Given the description of an element on the screen output the (x, y) to click on. 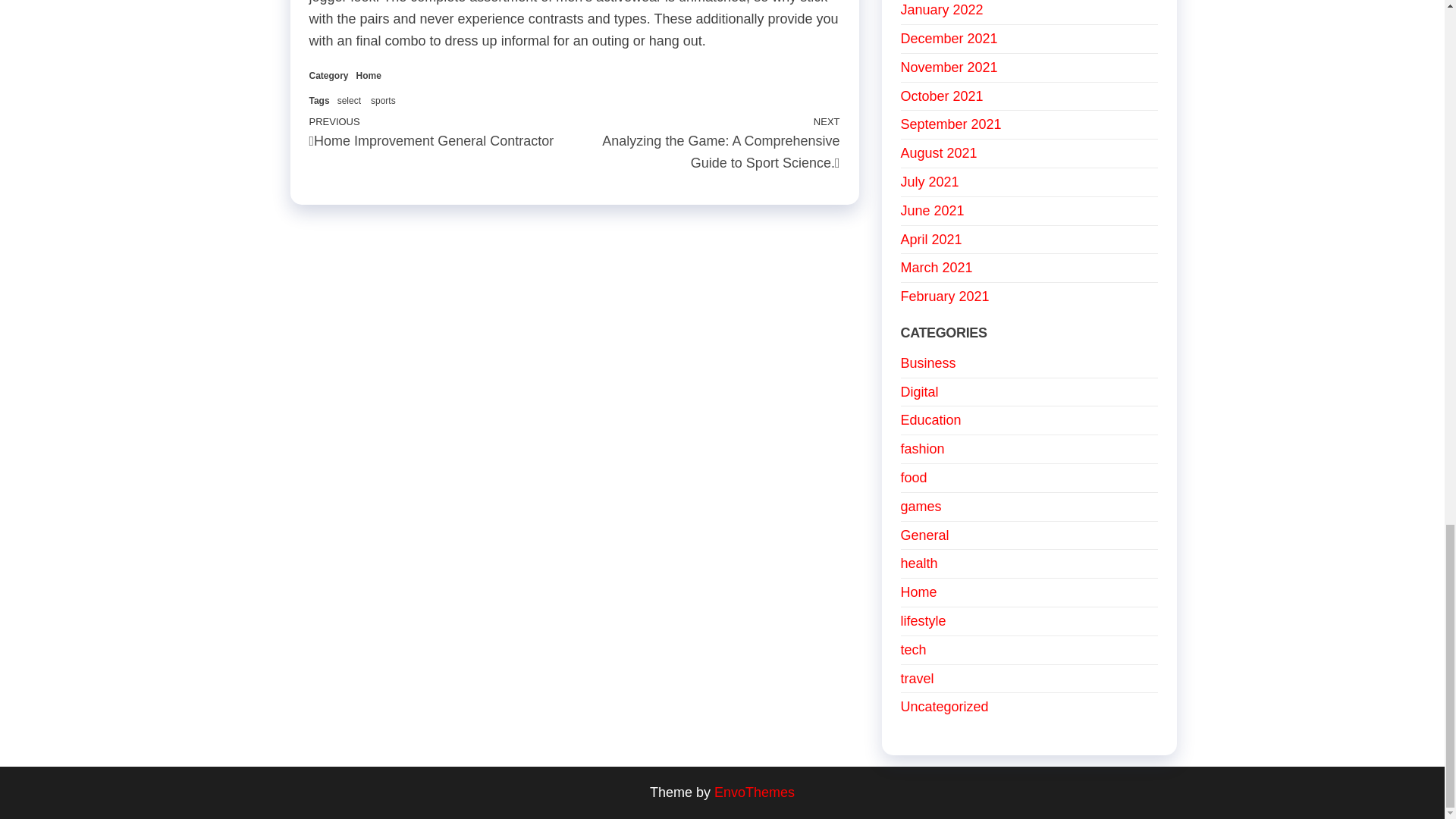
select (349, 100)
Home (441, 131)
sports (368, 75)
